Given the description of an element on the screen output the (x, y) to click on. 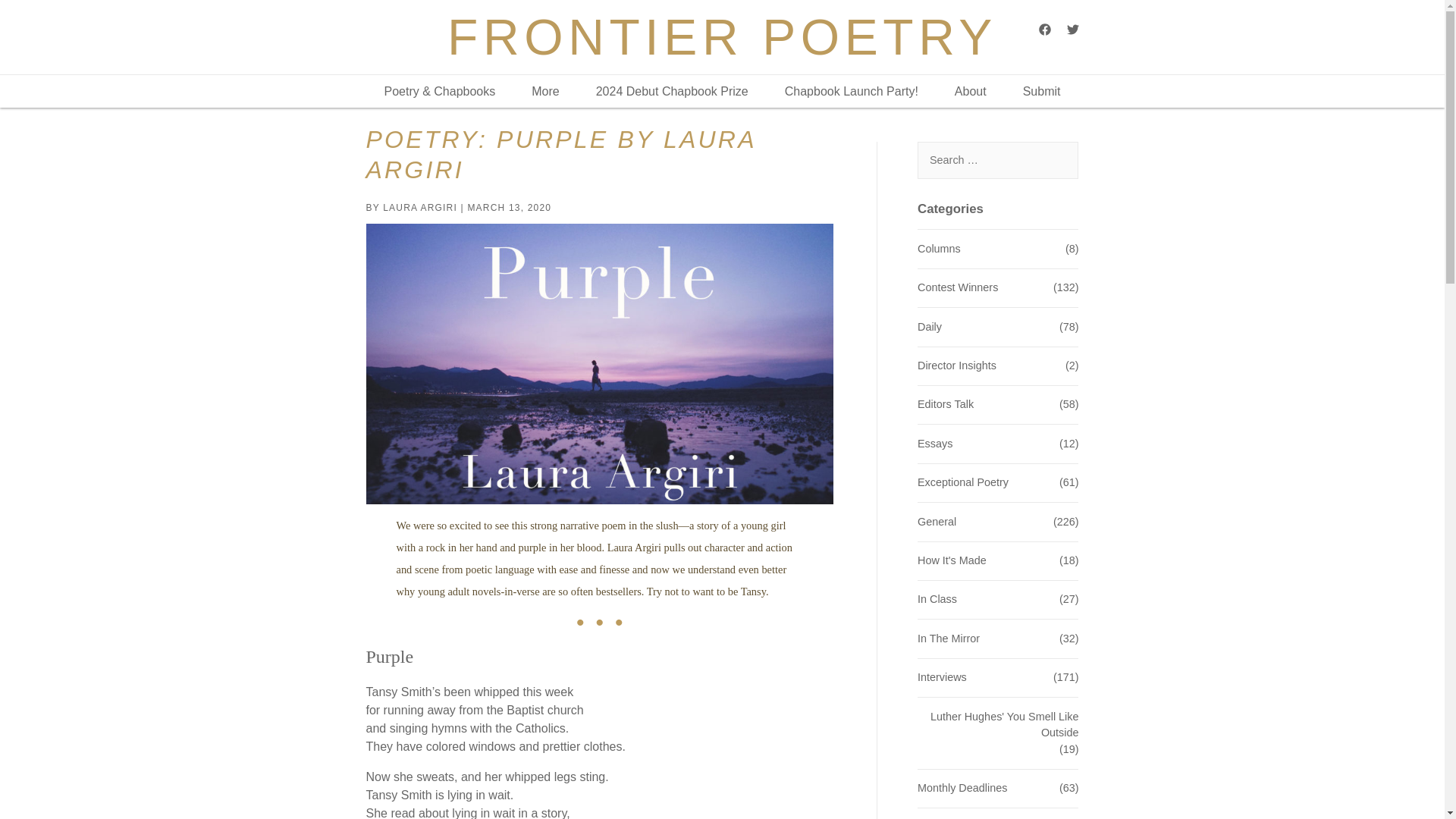
More (544, 91)
Facebook (1045, 29)
Director Insights (956, 365)
Exceptional Poetry (963, 483)
2024 Debut Chapbook Prize (671, 91)
Contest Winners (957, 288)
Monthly Deadlines (962, 788)
LAURA ARGIRI (419, 207)
Twitter (1071, 29)
Luther Hughes' You Smell Like Outside (997, 724)
In The Mirror (948, 638)
Daily (929, 327)
About (970, 91)
How It's Made (952, 560)
Essays (934, 443)
